Given the description of an element on the screen output the (x, y) to click on. 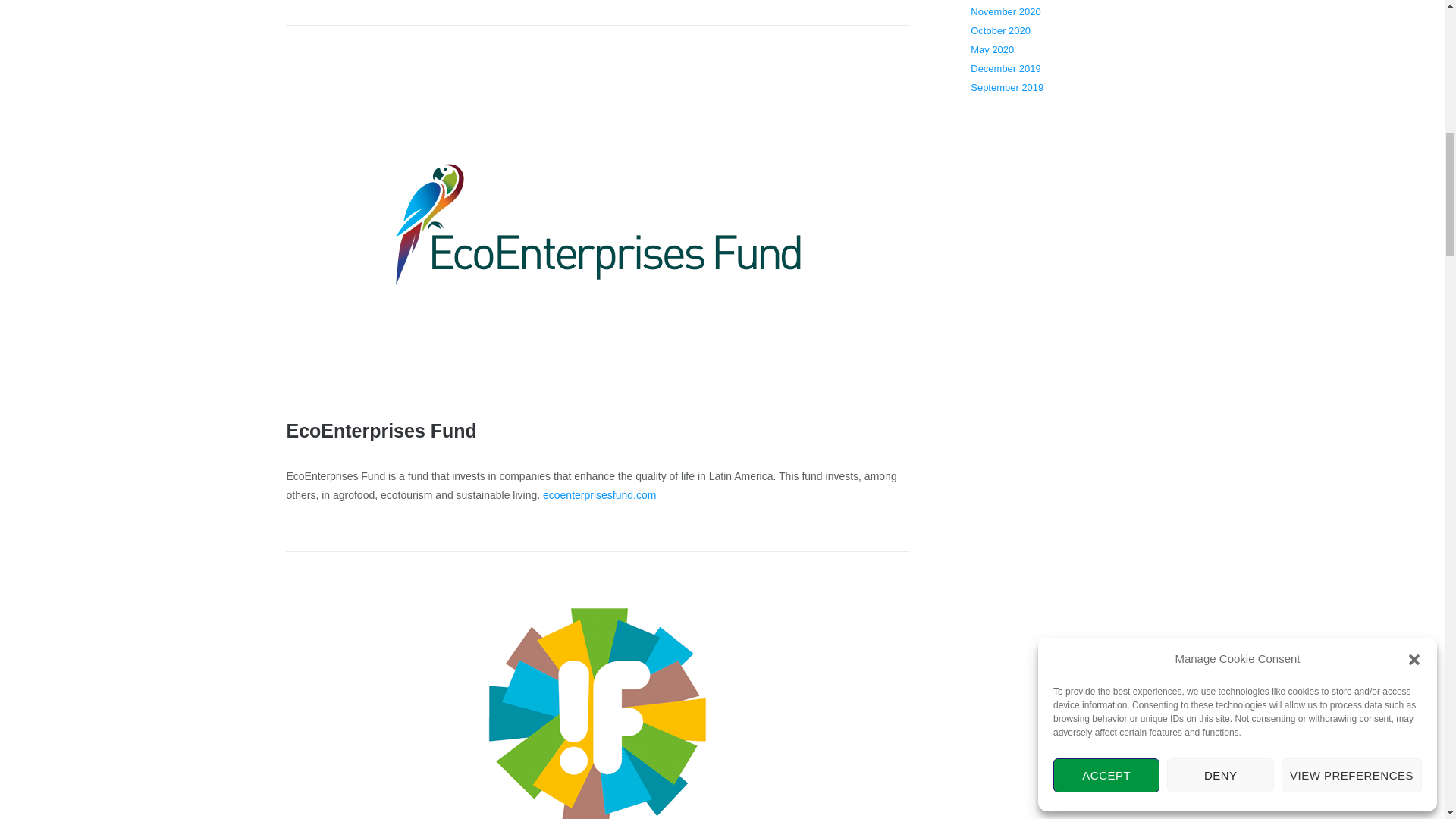
ecoenterprisesfund.com (599, 494)
EcoEnterprises Fund (380, 430)
